Given the description of an element on the screen output the (x, y) to click on. 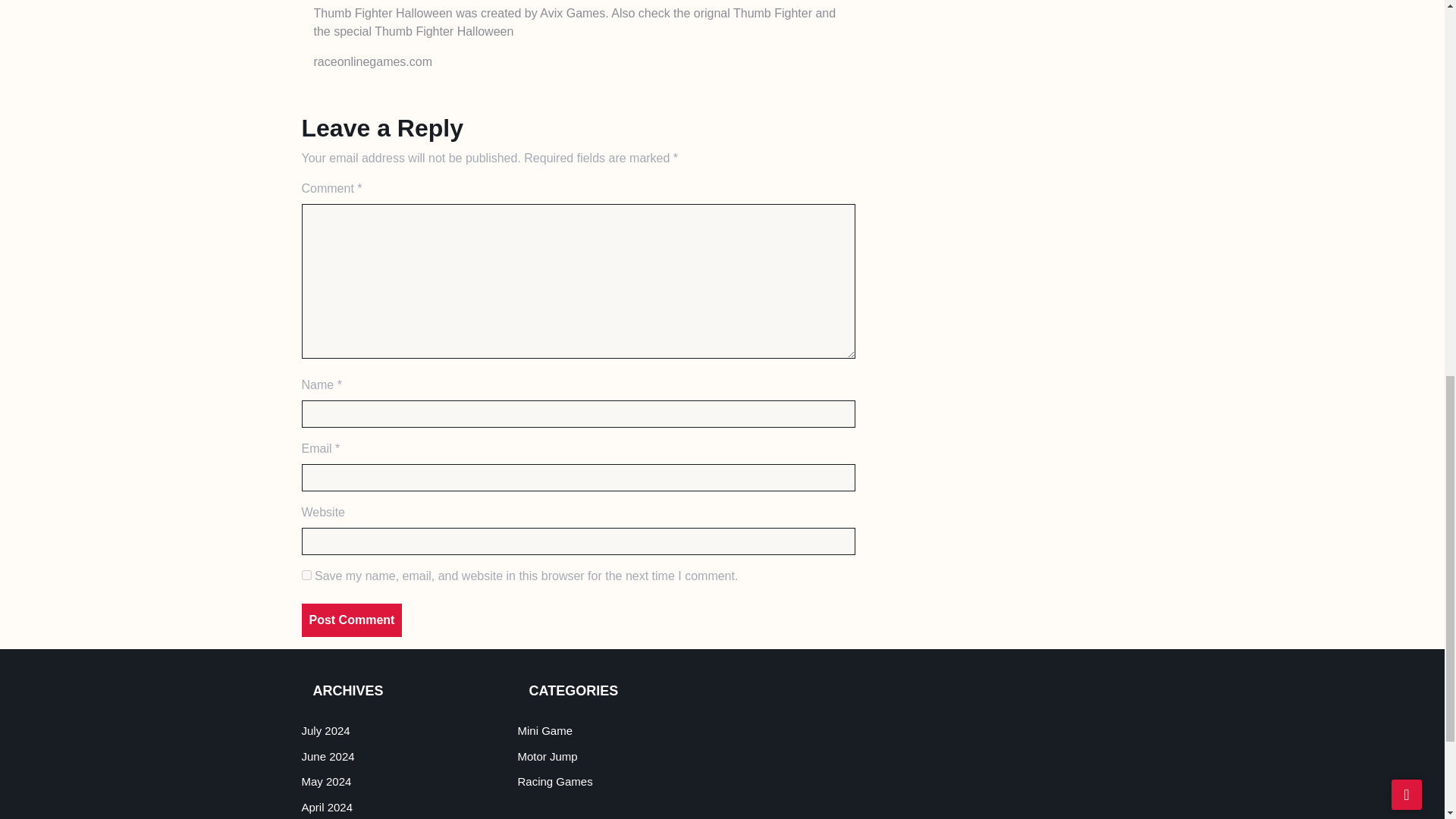
July 2024 (325, 730)
April 2024 (327, 807)
Post Comment (352, 620)
Post Comment (352, 620)
Motor Jump (546, 756)
Racing Games (554, 780)
yes (306, 574)
May 2024 (326, 780)
Mini Game (544, 730)
June 2024 (328, 756)
